Given the description of an element on the screen output the (x, y) to click on. 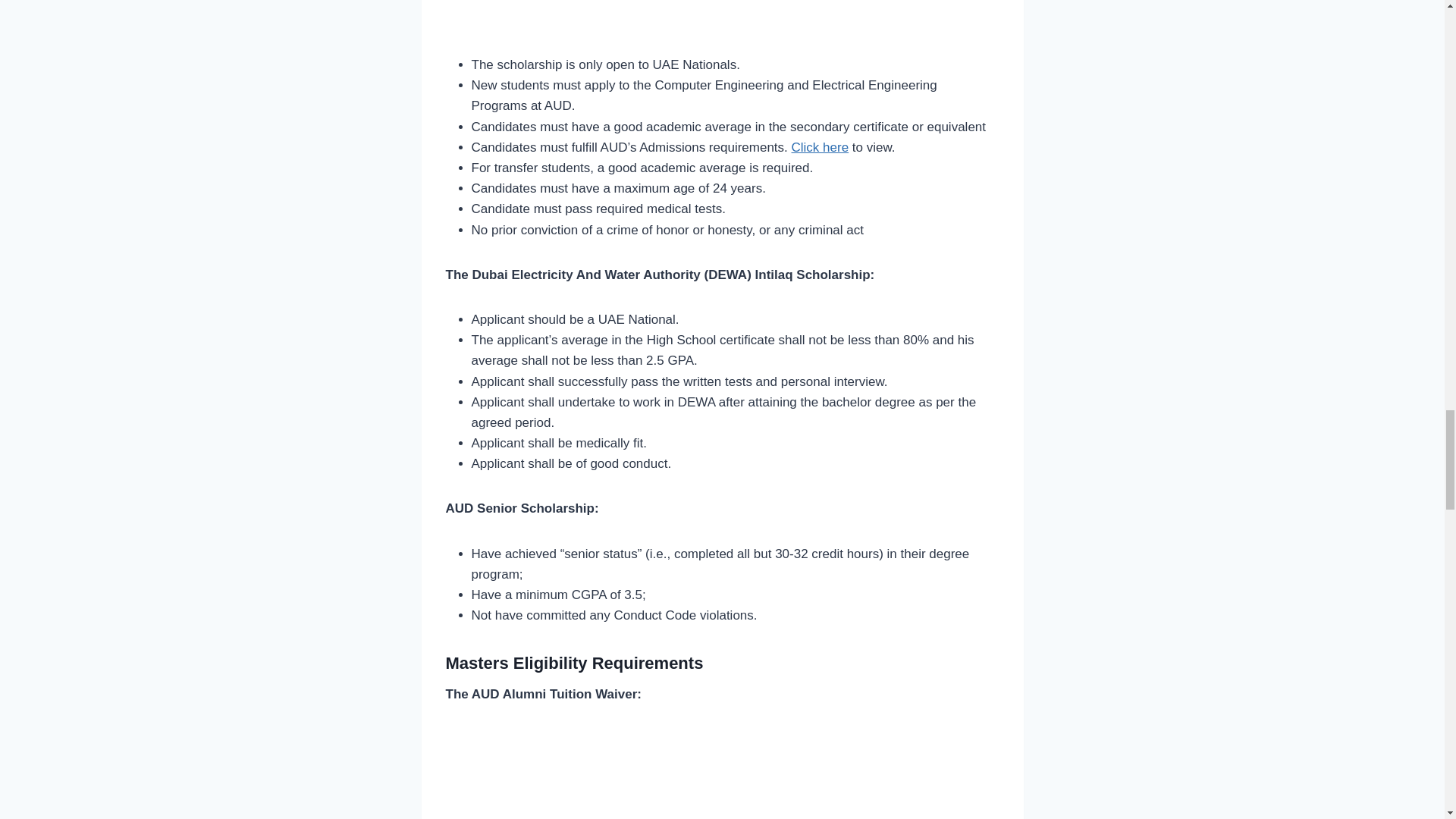
Click here (820, 147)
